Given the description of an element on the screen output the (x, y) to click on. 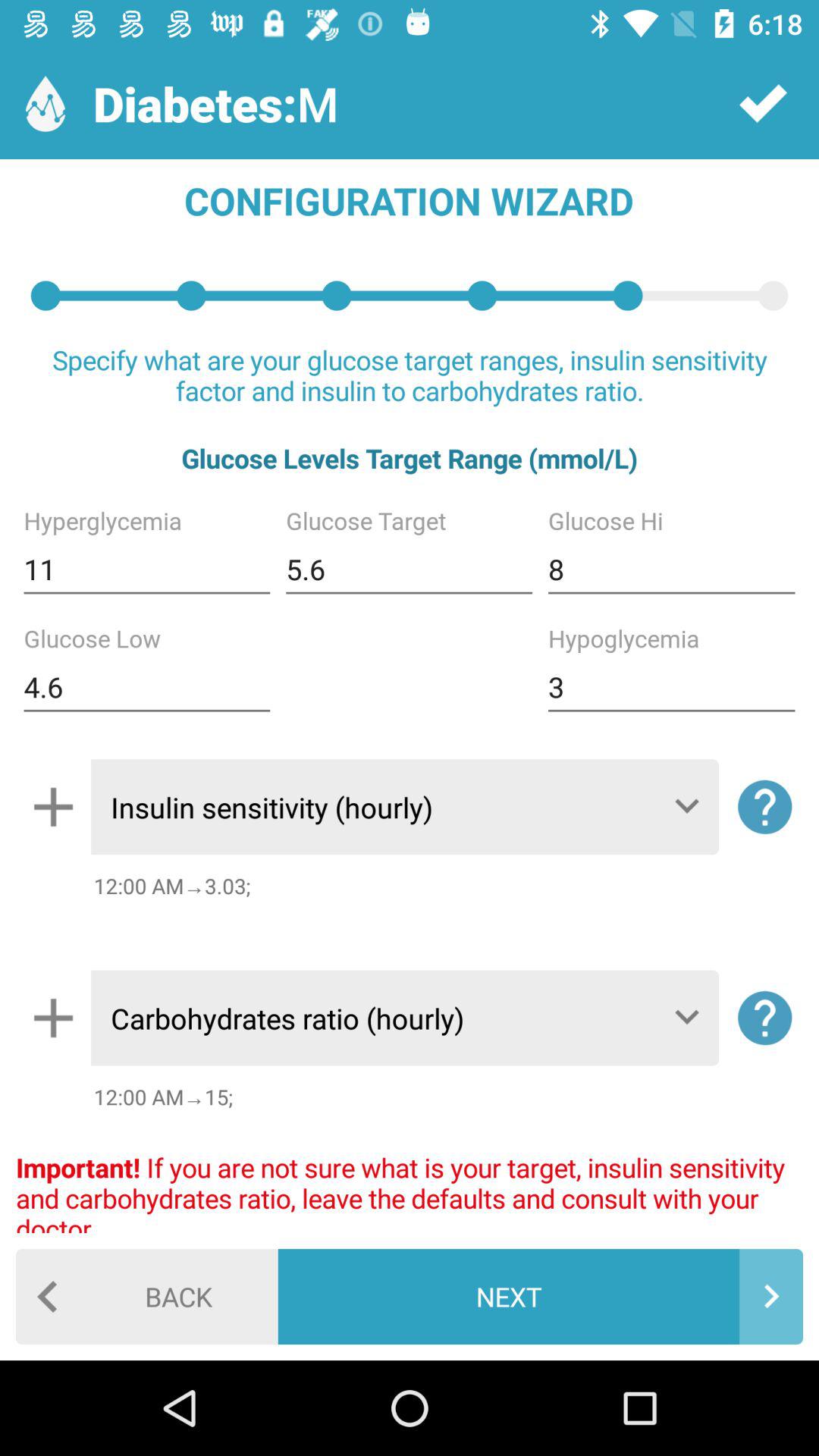
launch the back item (146, 1296)
